Given the description of an element on the screen output the (x, y) to click on. 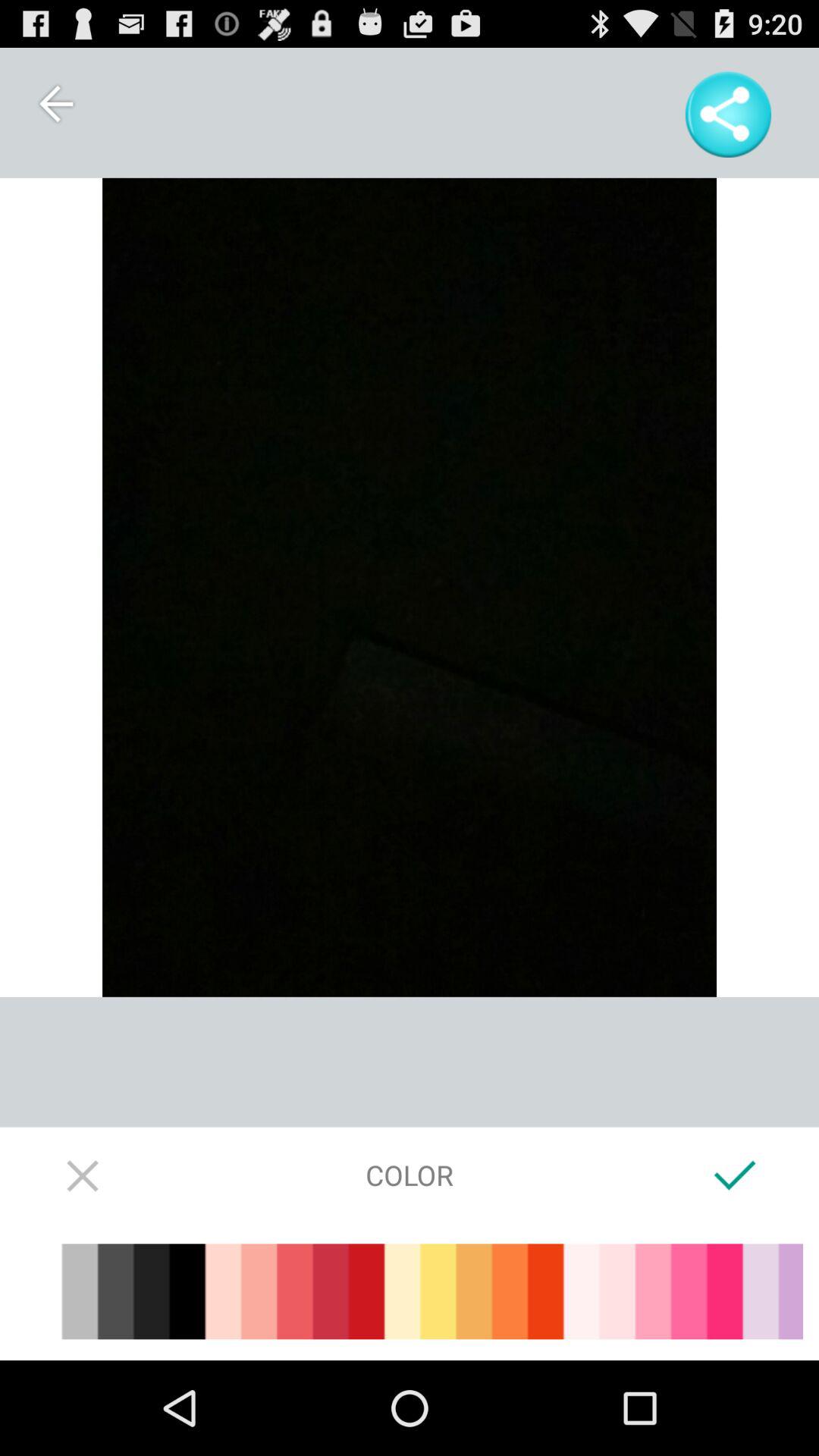
confirmar a ao (735, 1174)
